Given the description of an element on the screen output the (x, y) to click on. 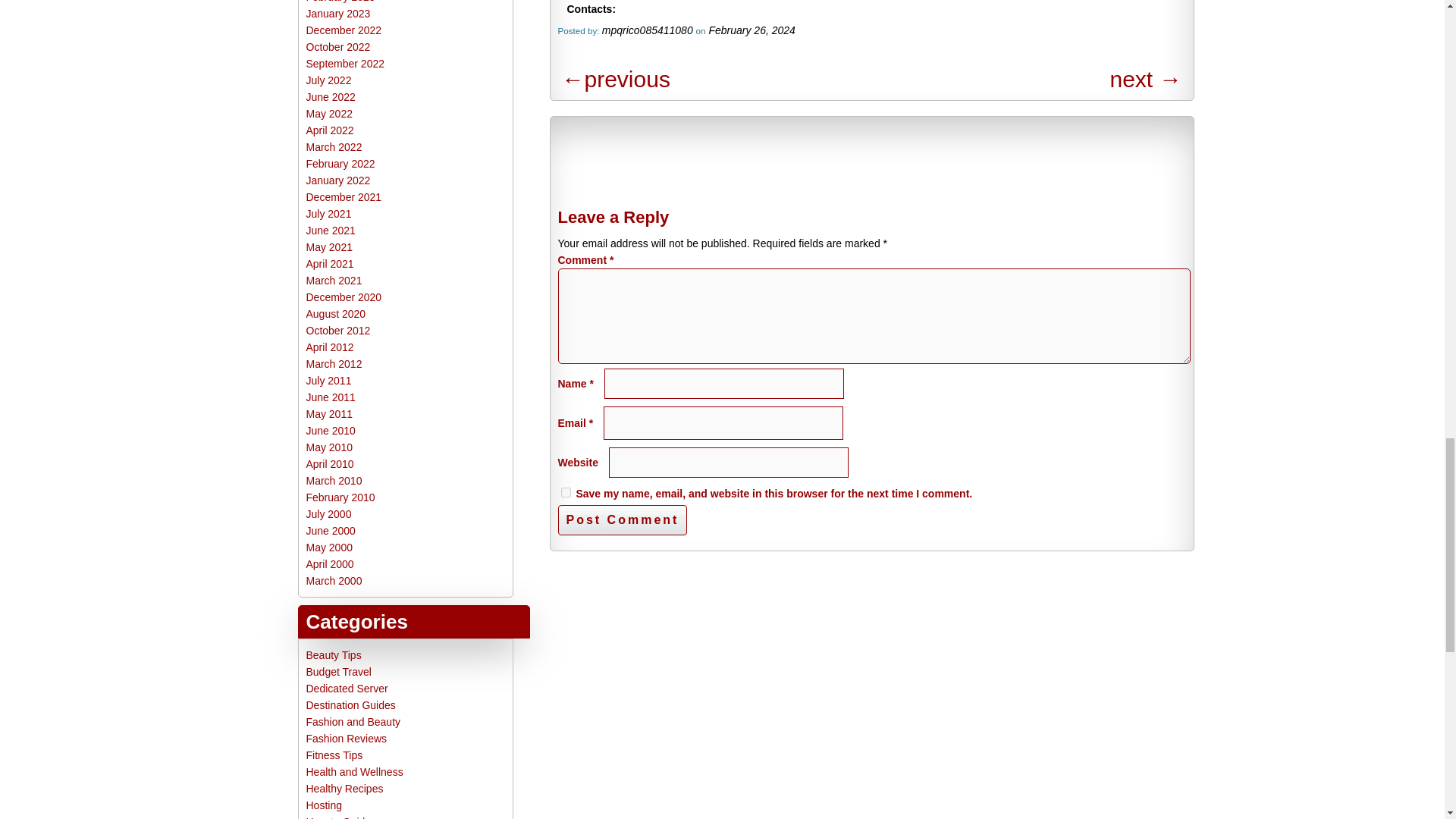
Post Comment (622, 520)
yes (565, 492)
Post Comment (622, 520)
